Given the description of an element on the screen output the (x, y) to click on. 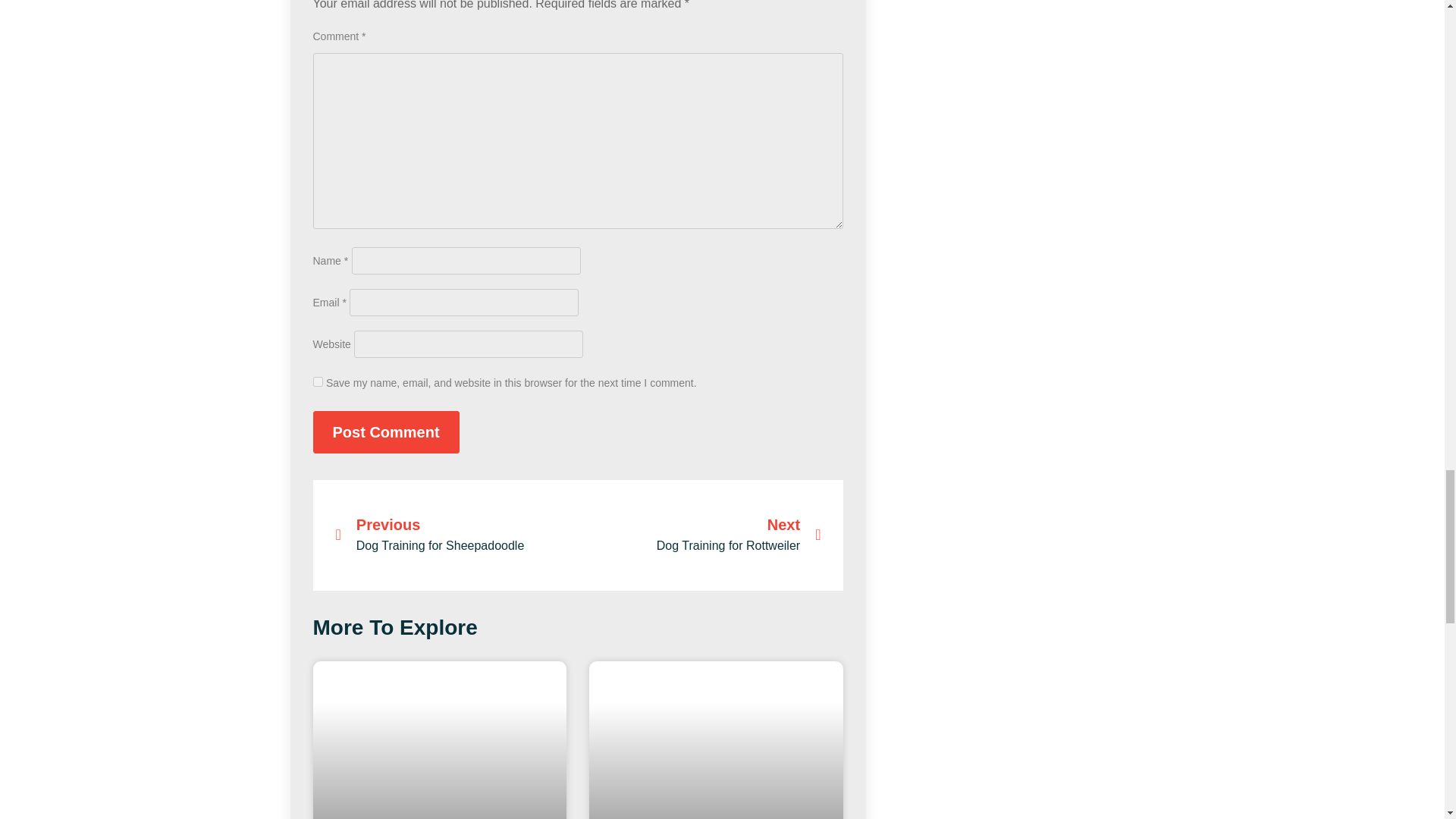
yes (317, 381)
Post Comment (385, 432)
